Given the description of an element on the screen output the (x, y) to click on. 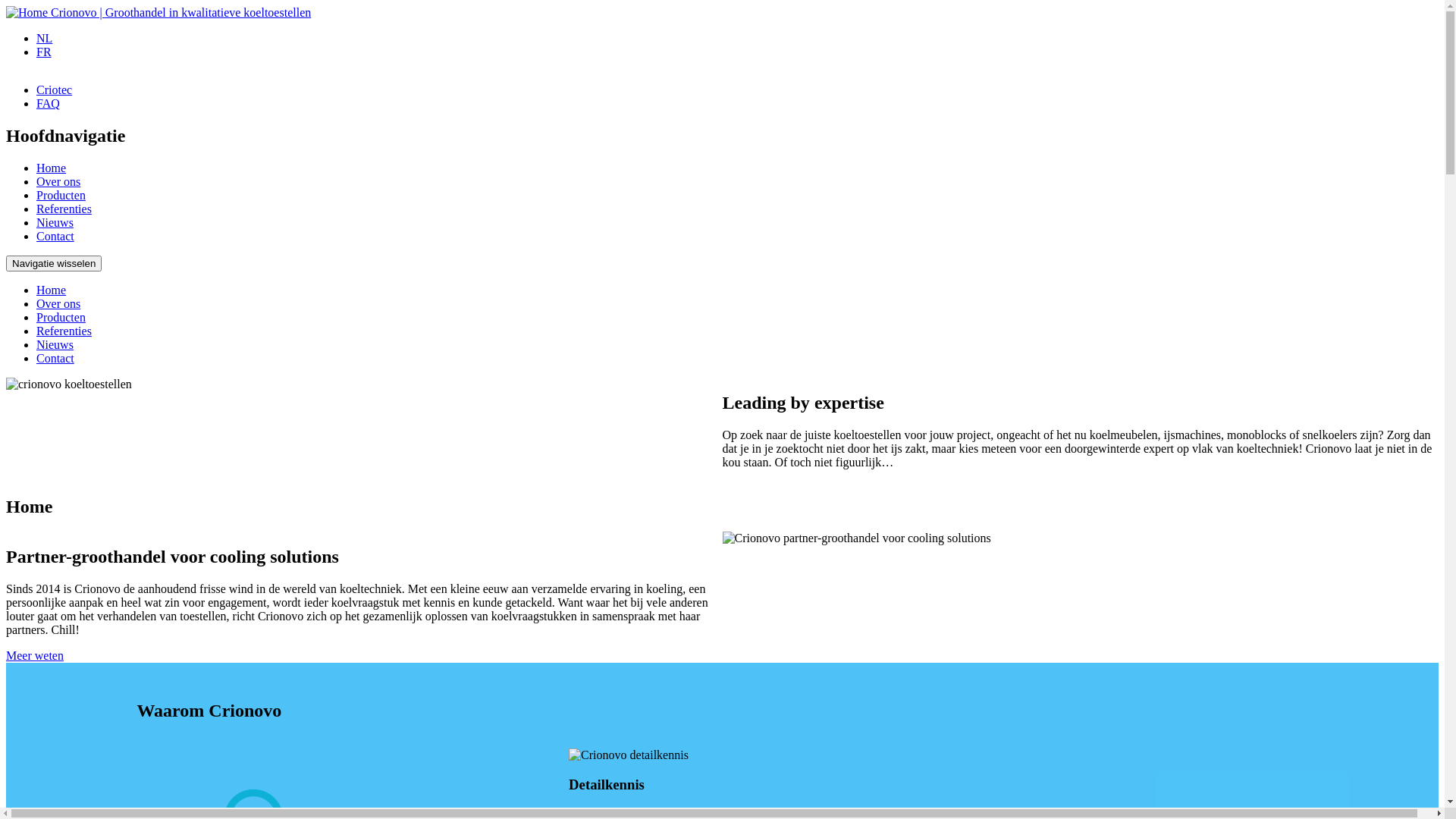
Overslaan en naar de inhoud gaan Element type: text (6, 6)
Over ons Element type: text (58, 181)
Navigatie wisselen Element type: text (53, 263)
Referenties Element type: text (63, 208)
Contact Element type: text (55, 235)
Nieuws Element type: text (54, 344)
Crionovo | Groothandel in kwalitatieve koeltoestellen Element type: text (180, 12)
Home Element type: text (50, 167)
Home Element type: text (50, 289)
NL Element type: text (44, 37)
Criotec Element type: text (54, 89)
Referenties Element type: text (63, 330)
Over ons Element type: text (58, 303)
Contact Element type: text (55, 357)
FAQ Element type: text (47, 103)
Producten Element type: text (60, 316)
Meer weten Element type: text (34, 655)
FR Element type: text (43, 51)
Producten Element type: text (60, 194)
Home Element type: hover (28, 12)
Nieuws Element type: text (54, 222)
